Given the description of an element on the screen output the (x, y) to click on. 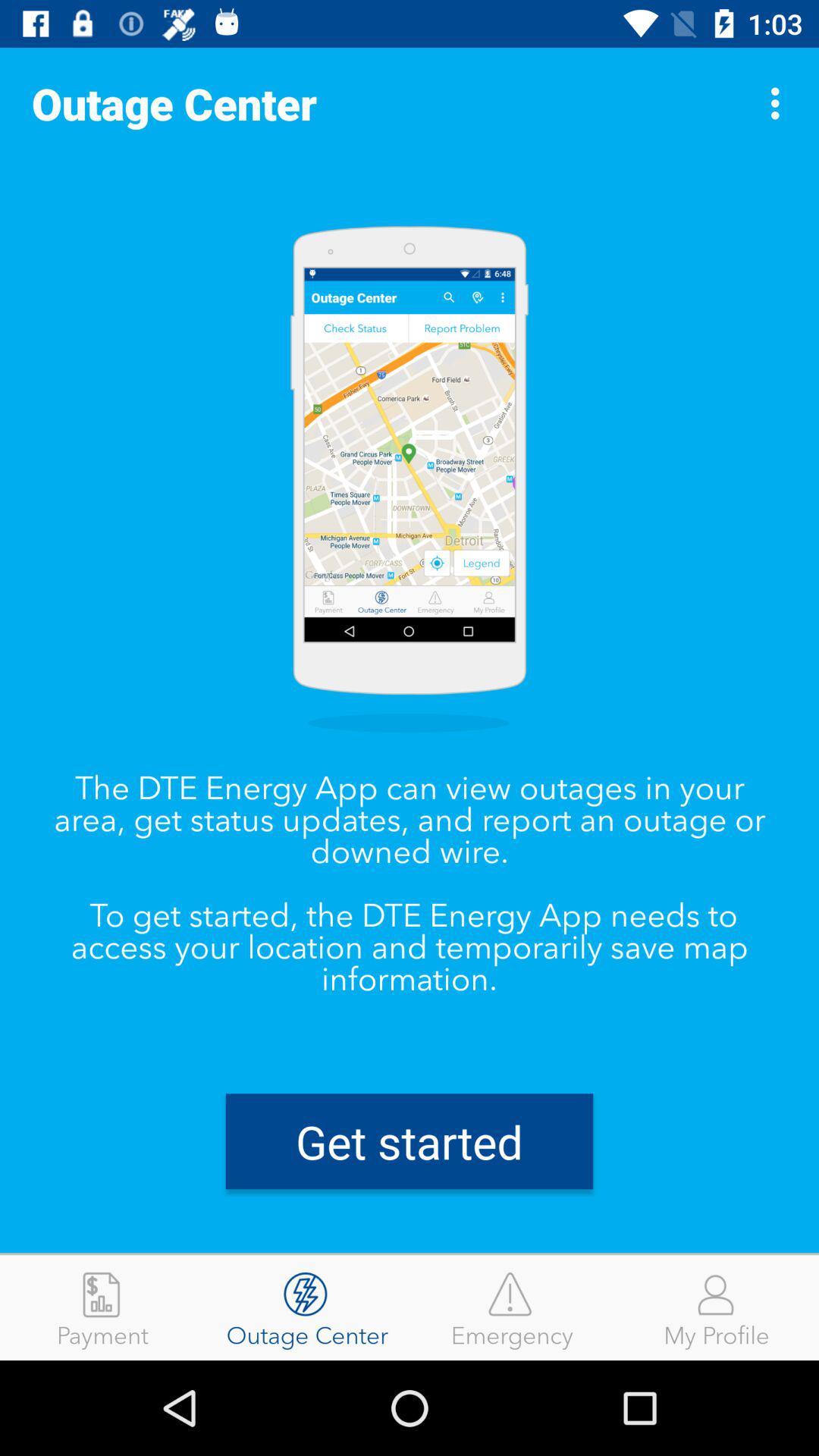
choose the item next to outage center (102, 1307)
